Given the description of an element on the screen output the (x, y) to click on. 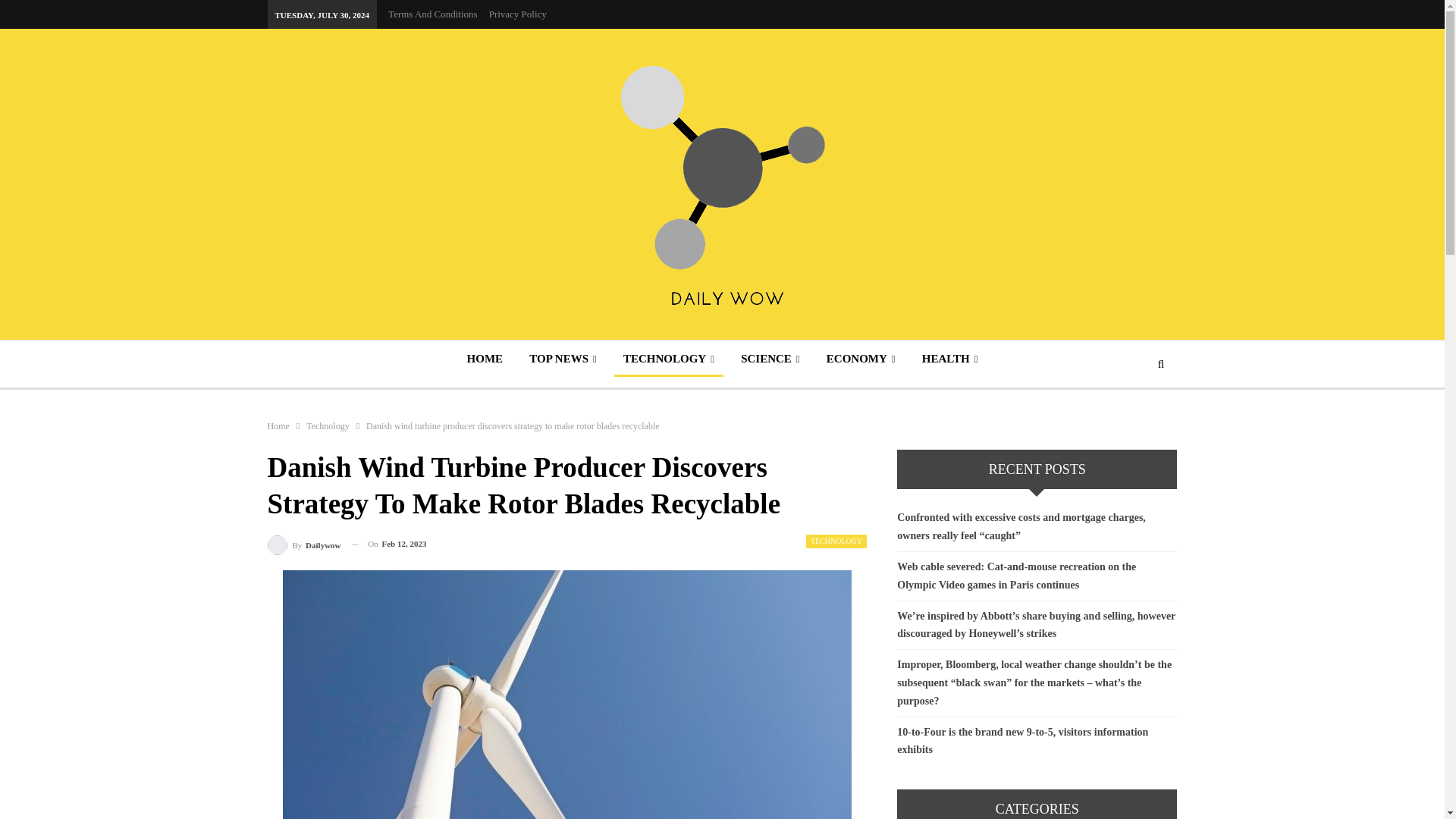
HOME (485, 358)
SCIENCE (770, 358)
Terms And Conditions (432, 13)
TOP NEWS (562, 358)
Privacy Policy (518, 13)
TECHNOLOGY (668, 358)
